Given the description of an element on the screen output the (x, y) to click on. 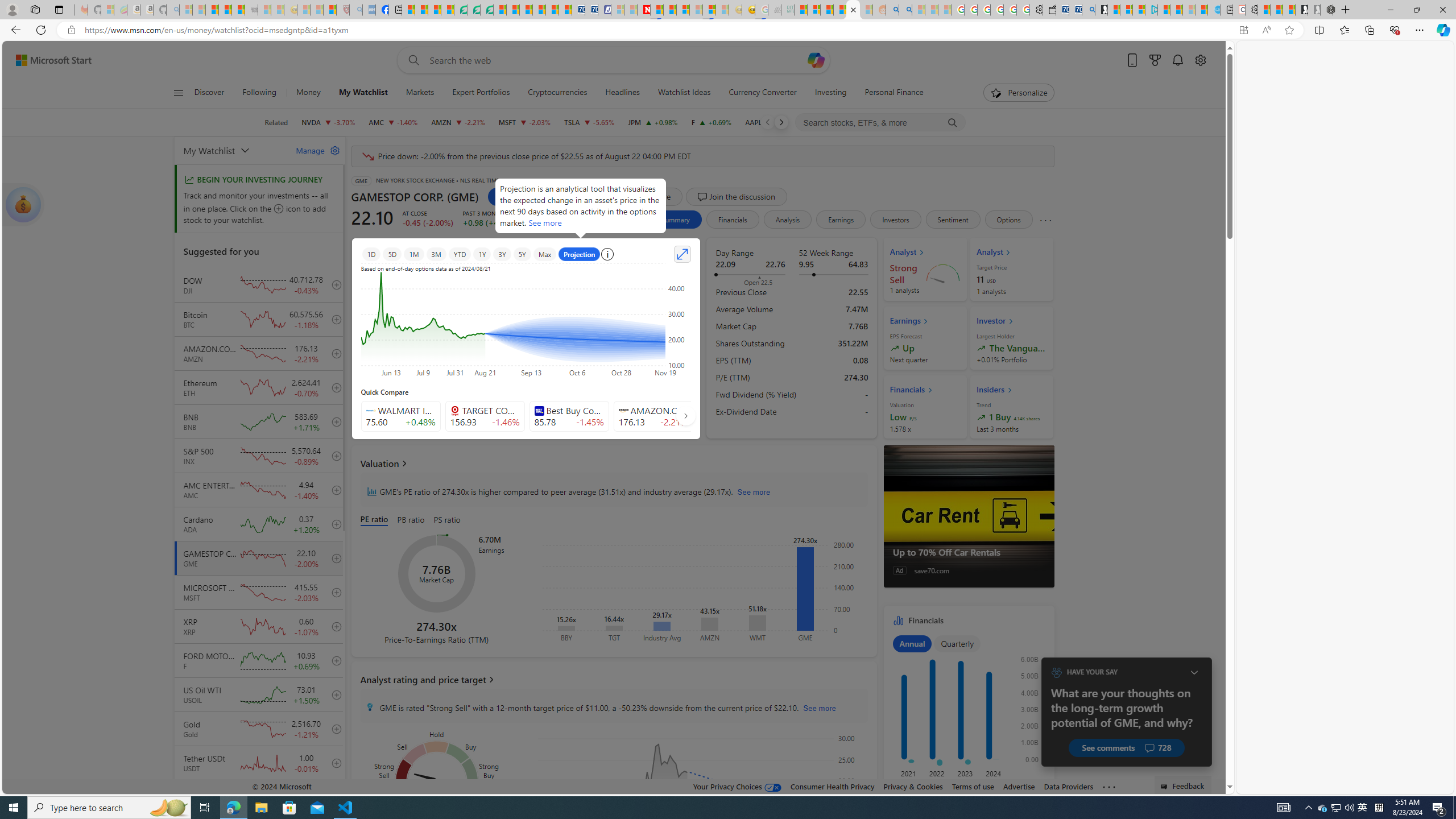
Money (307, 92)
Analysis (787, 219)
NVDA NVIDIA CORPORATION decrease 123.74 -4.76 -3.70% (328, 122)
Discover (213, 92)
Recipes - MSN - Sleeping (303, 9)
Next (780, 122)
Annual (911, 643)
